Given the description of an element on the screen output the (x, y) to click on. 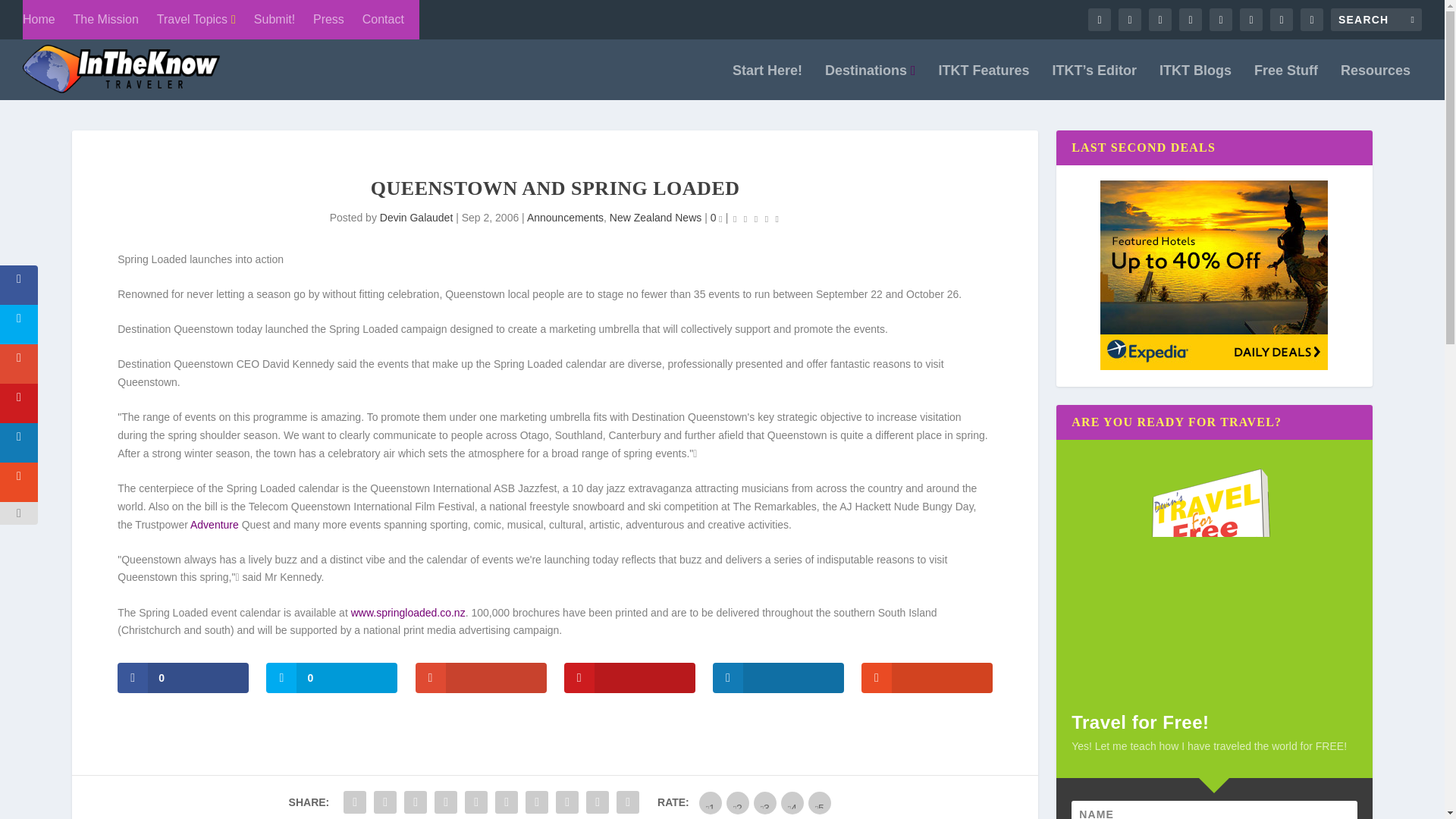
Travel Topics (196, 19)
Share "Queenstown and Spring Loaded" via LinkedIn (506, 802)
Share "Queenstown and Spring Loaded" via Pinterest (476, 802)
Share "Queenstown and Spring Loaded" via Twitter (384, 802)
Share "Queenstown and Spring Loaded" via Facebook (354, 802)
Submit! (274, 19)
Destinations (870, 81)
Search for: (1376, 19)
The Mission (106, 19)
Share "Queenstown and Spring Loaded" via Tumblr (445, 802)
